Given the description of an element on the screen output the (x, y) to click on. 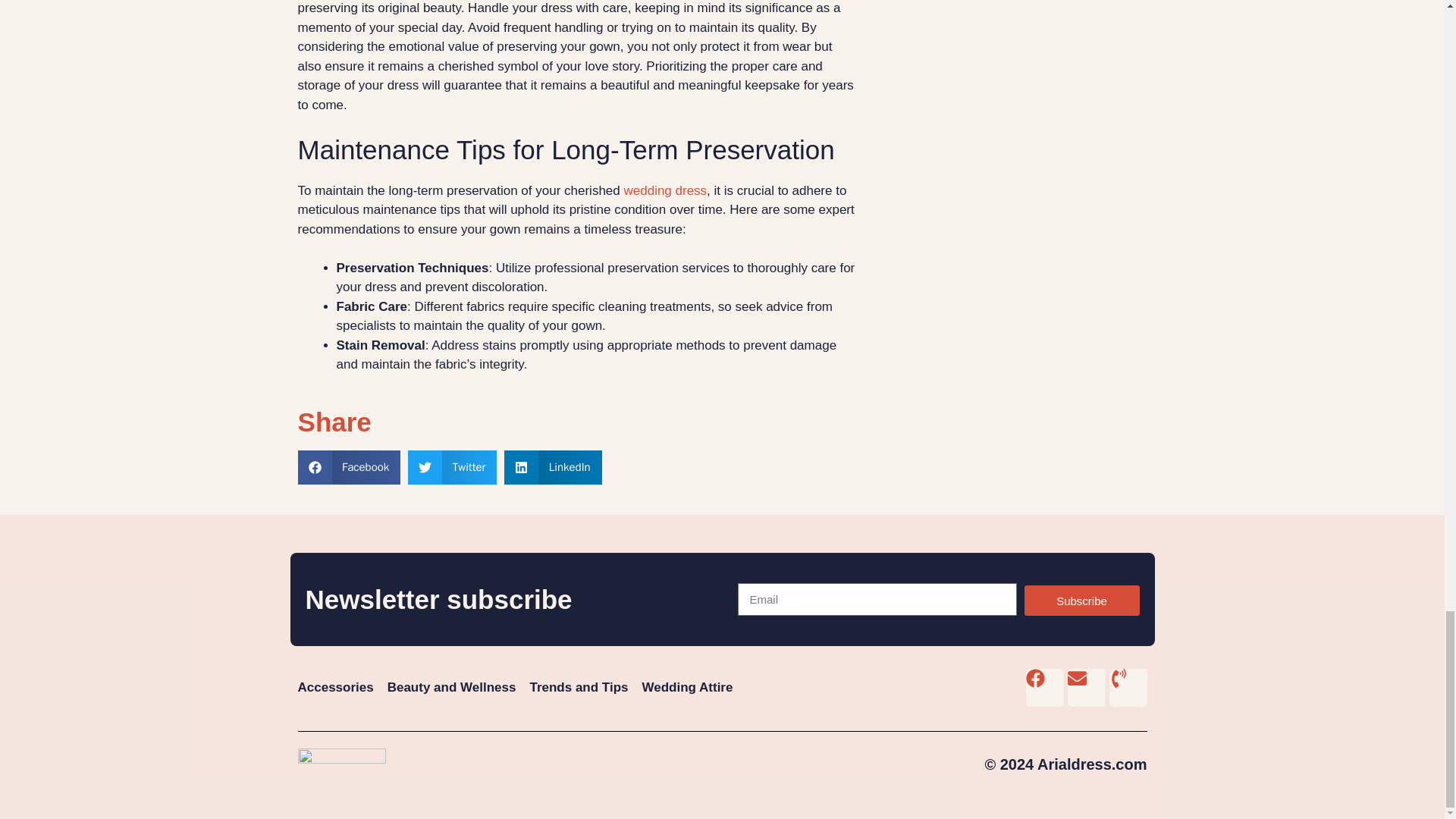
Wedding Attire (687, 687)
Subscribe (1080, 600)
Trends and Tips (578, 687)
Beauty and Wellness (451, 687)
wedding dress (664, 190)
Accessories (334, 687)
